Given the description of an element on the screen output the (x, y) to click on. 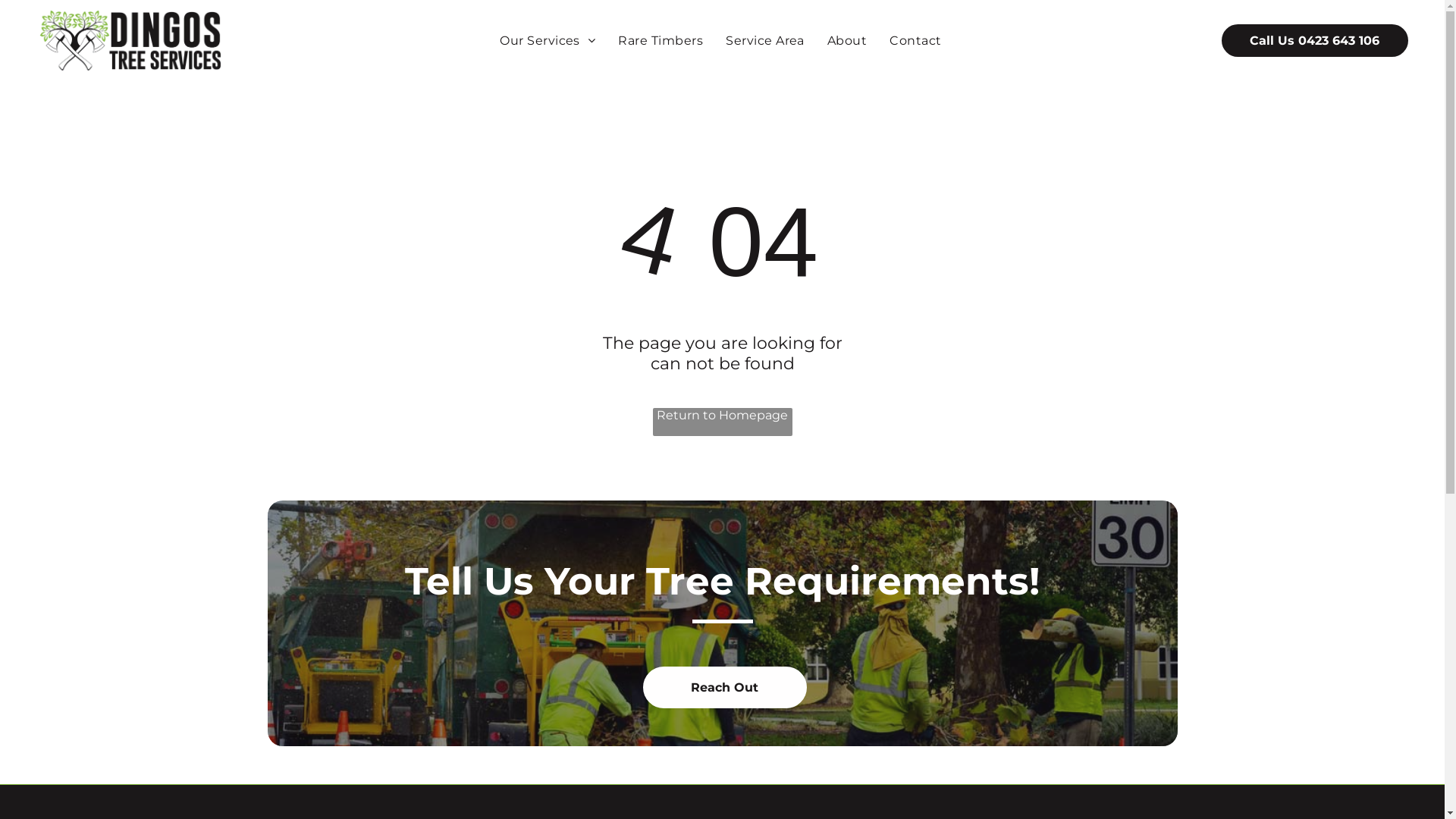
Our Services Element type: text (547, 40)
Reach Out Element type: text (724, 687)
About Element type: text (846, 40)
Service Area Element type: text (764, 40)
Rare Timbers Element type: text (660, 40)
Call Us 0423 643 106 Element type: text (1314, 40)
Return to Homepage Element type: text (721, 421)
Contact Element type: text (915, 40)
